Given the description of an element on the screen output the (x, y) to click on. 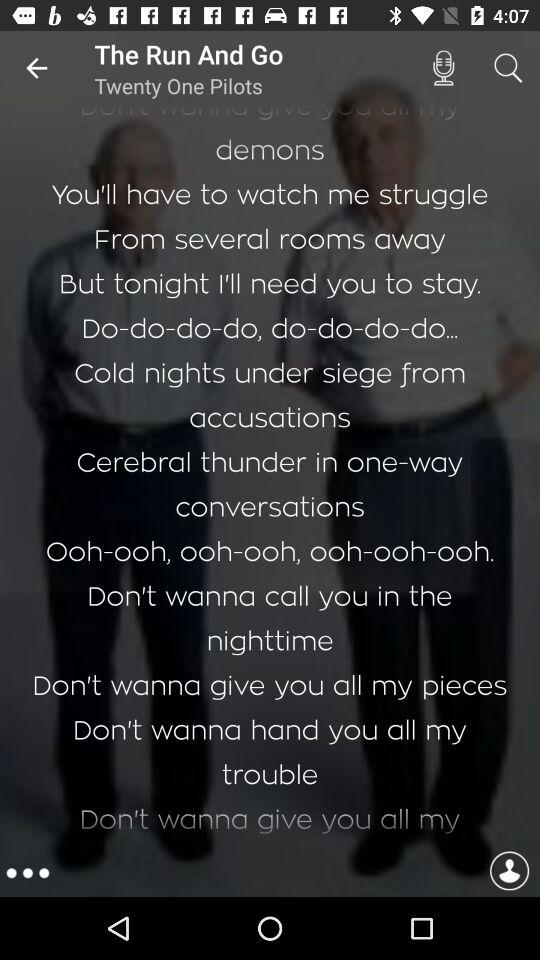
turn off the item below the i can t item (27, 873)
